Given the description of an element on the screen output the (x, y) to click on. 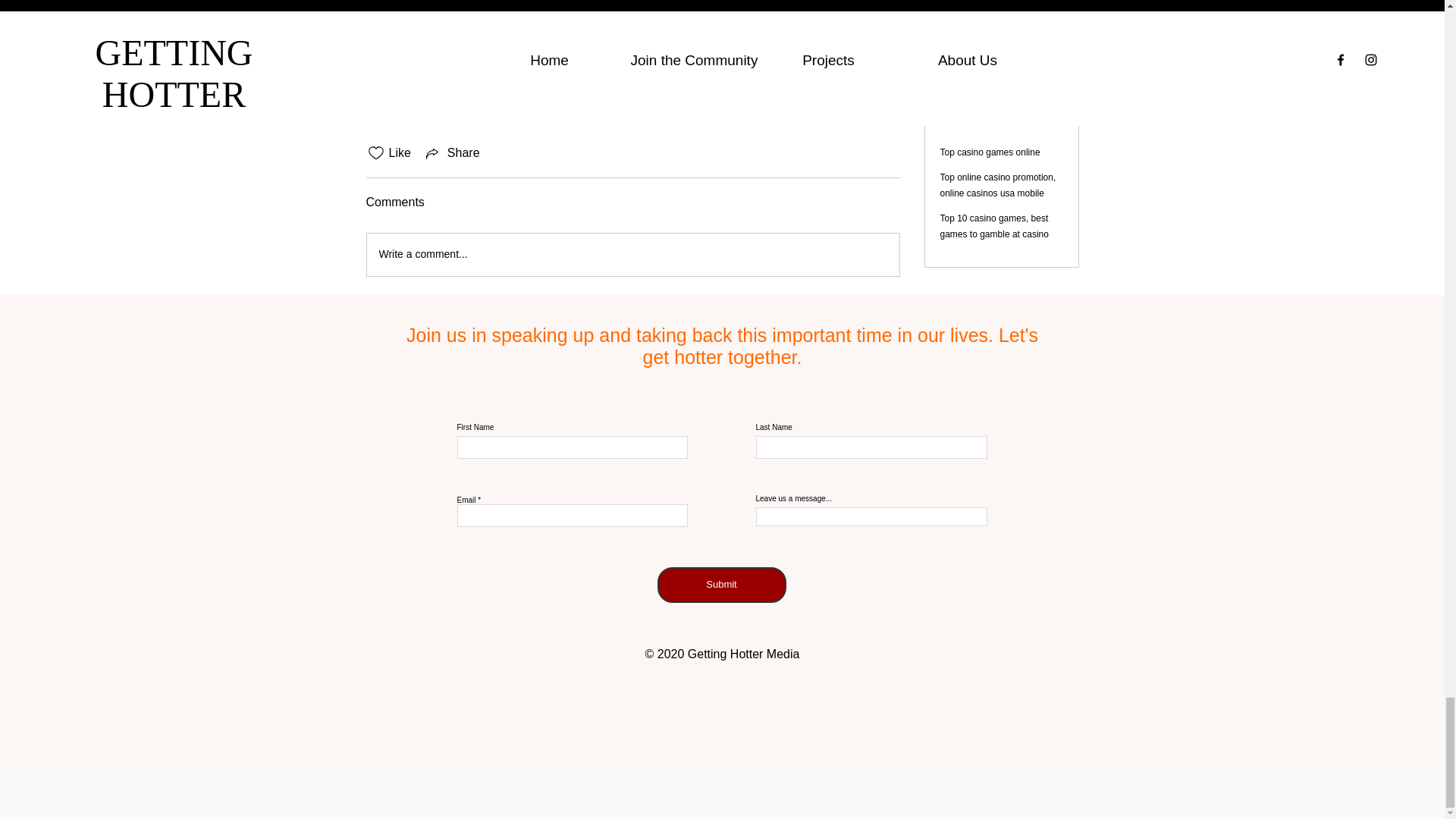
Share (451, 153)
Submit (721, 584)
Write a comment... (632, 254)
